Given the description of an element on the screen output the (x, y) to click on. 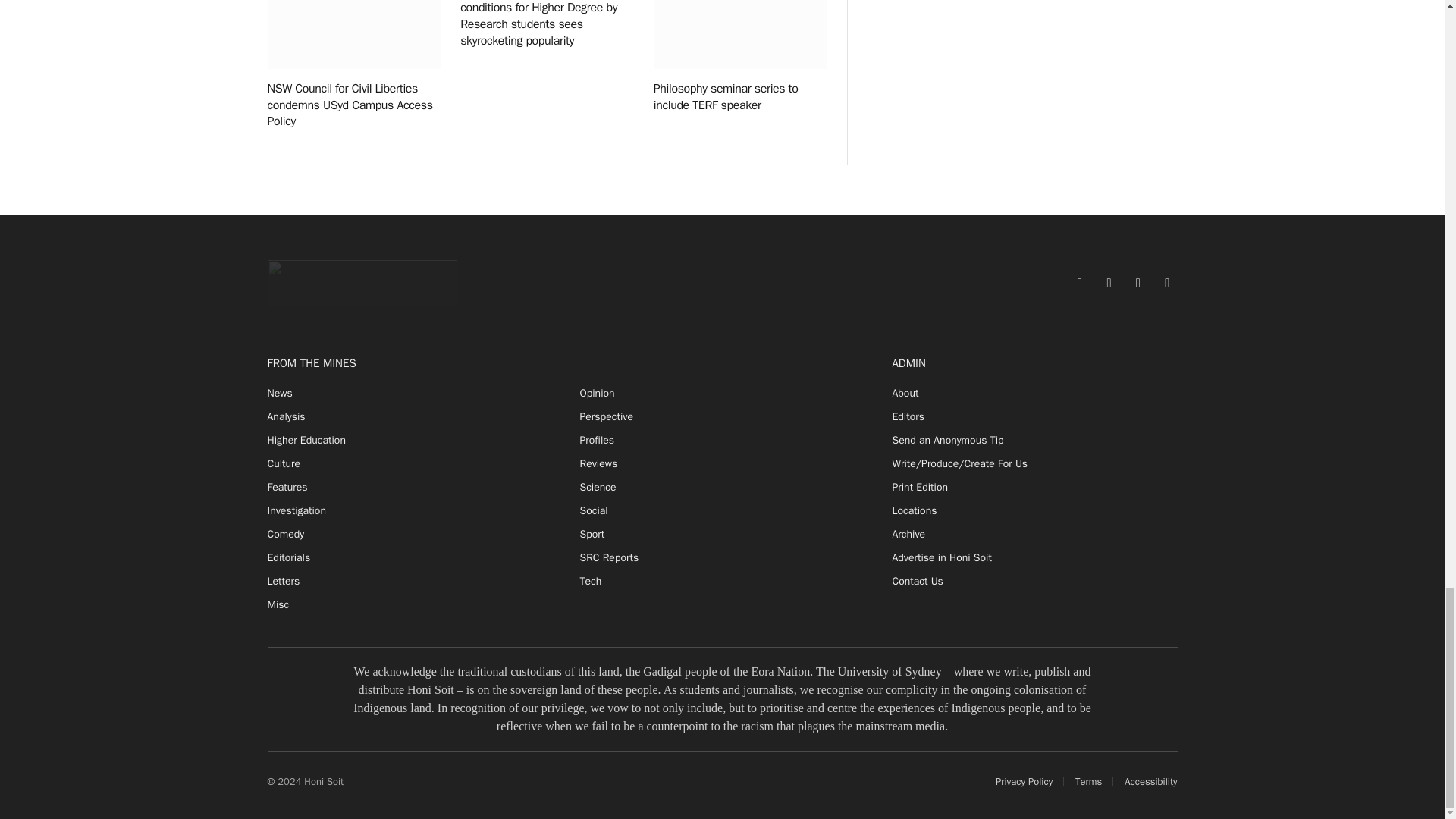
Philosophy seminar series to include TERF speaker (740, 34)
